Given the description of an element on the screen output the (x, y) to click on. 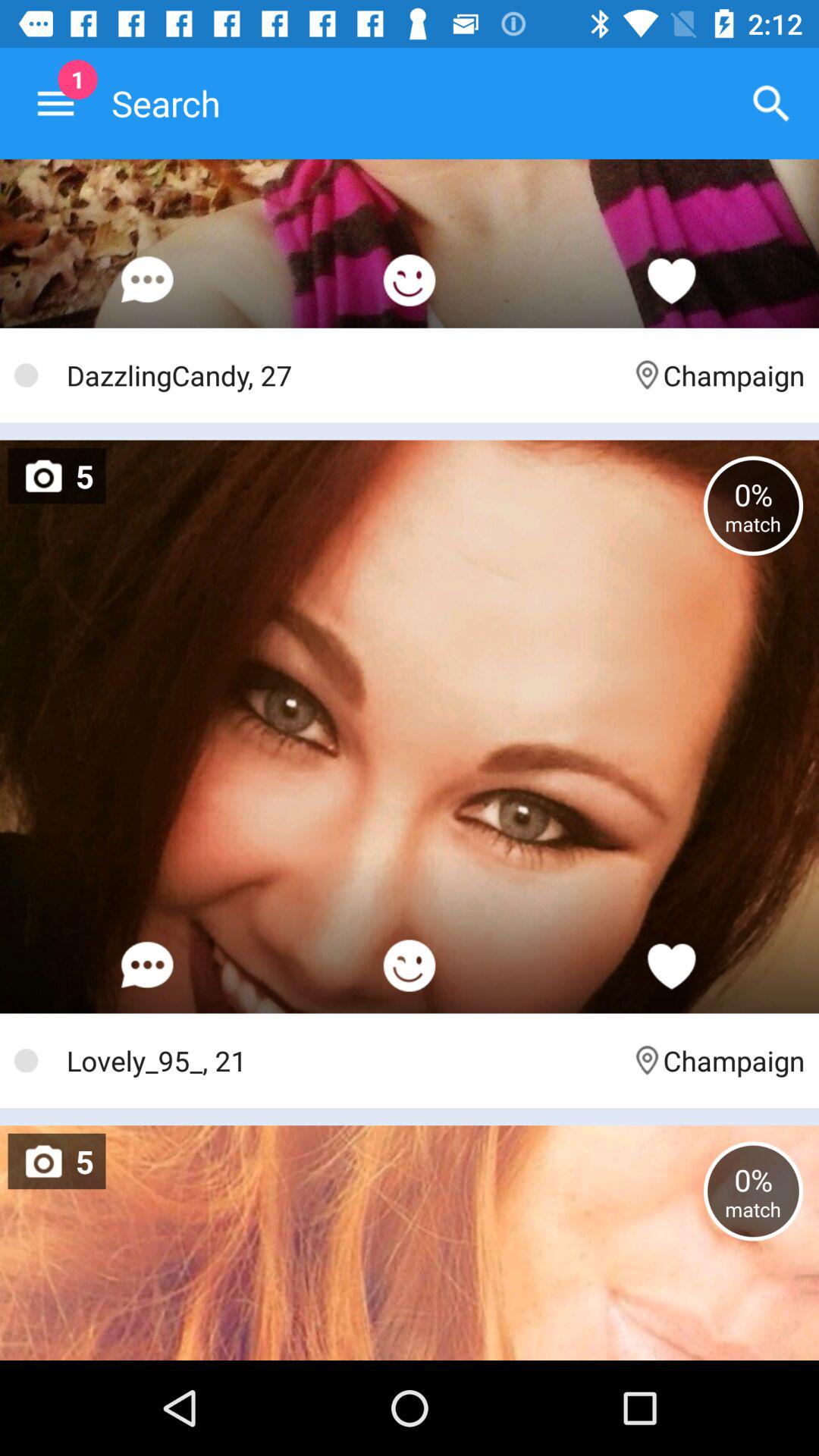
press dazzlingcandy, 27 (341, 375)
